Given the description of an element on the screen output the (x, y) to click on. 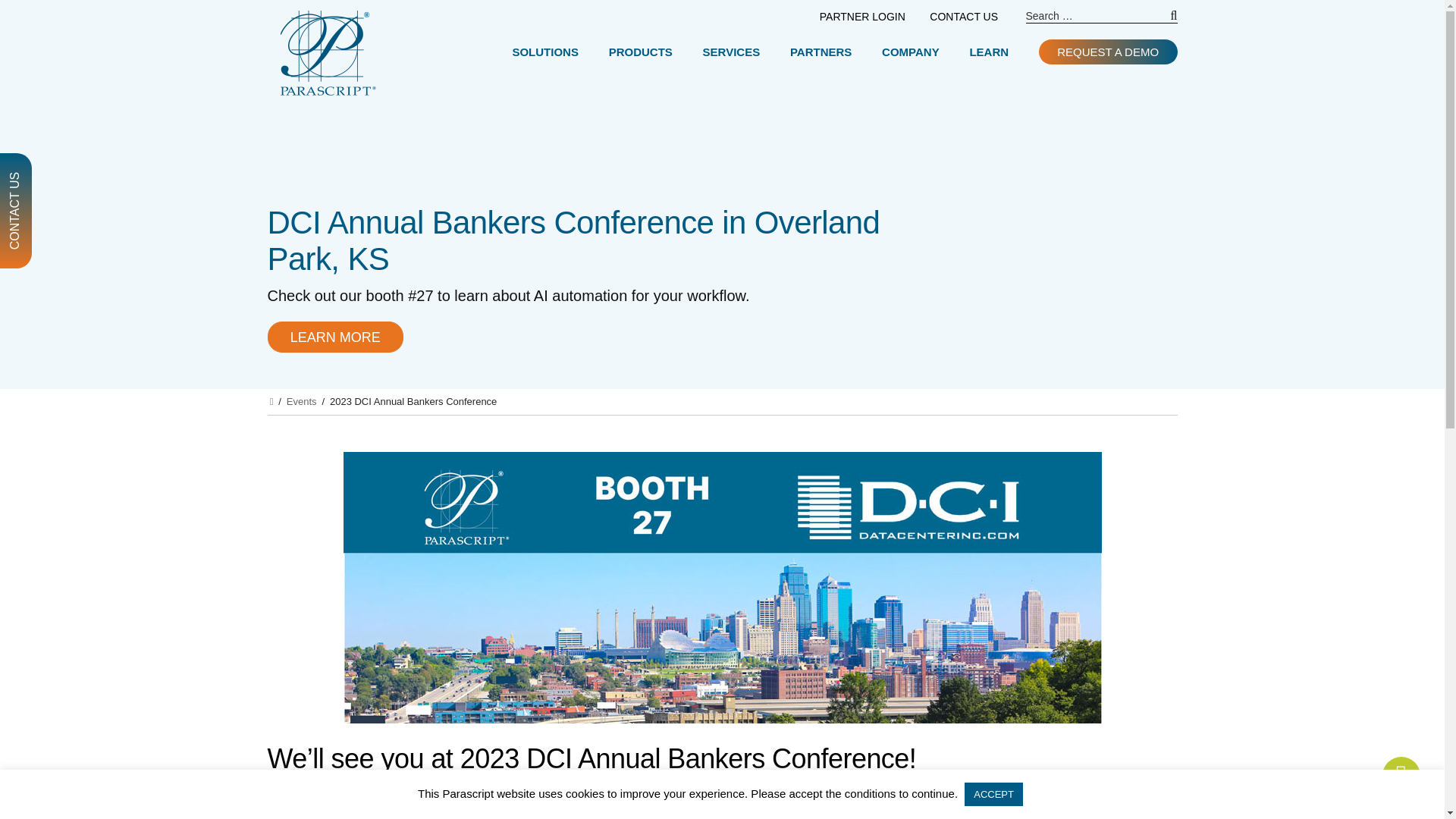
Search (1165, 20)
Search (1165, 20)
